Given the description of an element on the screen output the (x, y) to click on. 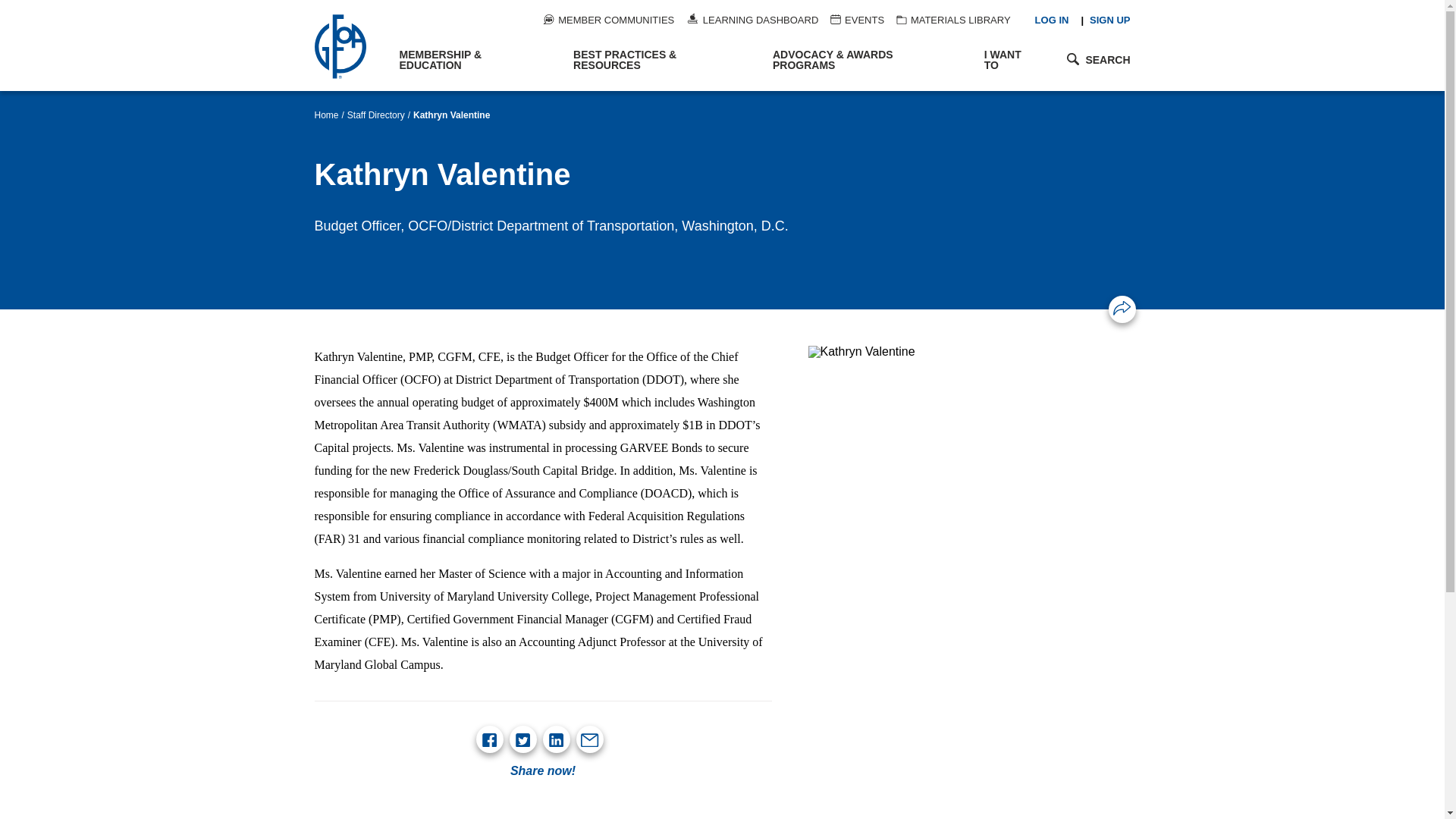
LEARNING DASHBOARD (751, 19)
Share this page (1122, 308)
SIGN UP (1109, 19)
MATERIALS LIBRARY (953, 19)
Twitter (522, 740)
LinkedIn (555, 740)
Home (349, 45)
Facebook (488, 740)
EVENTS (856, 19)
MEMBER COMMUNITIES (608, 19)
LOG IN (1051, 19)
